Given the description of an element on the screen output the (x, y) to click on. 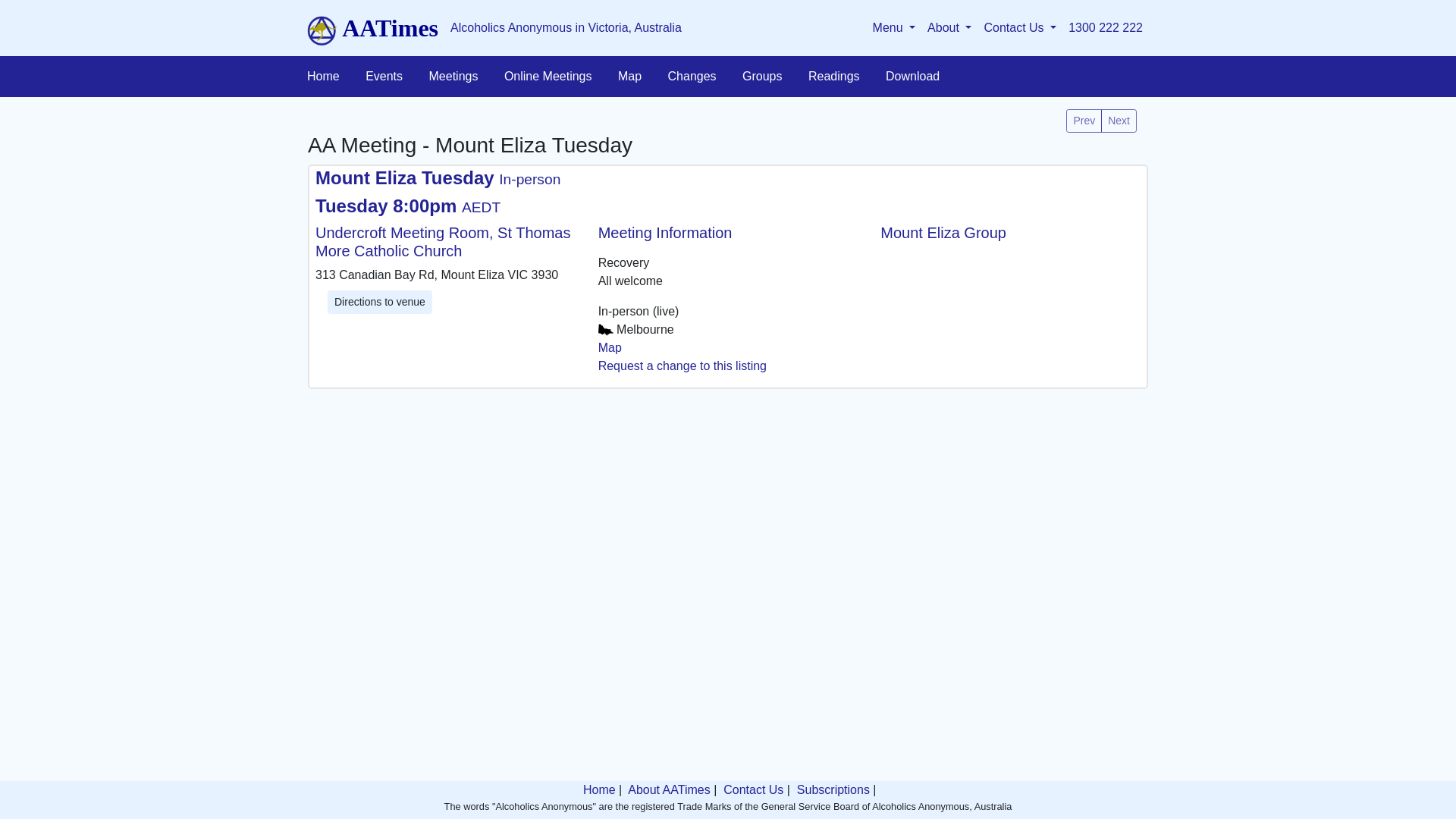
Readings Element type: text (834, 76)
Map Element type: text (629, 76)
About Element type: text (949, 27)
 About AATimes Element type: text (667, 789)
Menu Element type: text (894, 27)
Contact Us Element type: text (1019, 27)
Tuesday 8:00pm AEDT Element type: text (407, 204)
Mount Eliza Group Element type: text (943, 231)
Request a change to this listing Element type: text (682, 364)
Meetings Element type: text (453, 76)
Prev Element type: text (1083, 120)
1300 222 222 Element type: text (1105, 27)
Groups Element type: text (762, 76)
 Contact Us Element type: text (752, 789)
Events Element type: text (384, 76)
Home Element type: text (323, 76)
Download Element type: text (912, 76)
AATimes Element type: text (372, 28)
Mount Eliza Tuesday In-person Element type: text (437, 177)
Map Element type: text (609, 346)
Meeting Information Element type: text (728, 231)
Next Element type: text (1118, 120)
 Subscriptions Element type: text (831, 789)
Directions to venue Element type: text (379, 301)
Online Meetings Element type: text (547, 76)
Changes Element type: text (692, 76)
Undercroft Meeting Room, St Thomas More Catholic Church Element type: text (445, 251)
 Home Element type: text (597, 789)
